Given the description of an element on the screen output the (x, y) to click on. 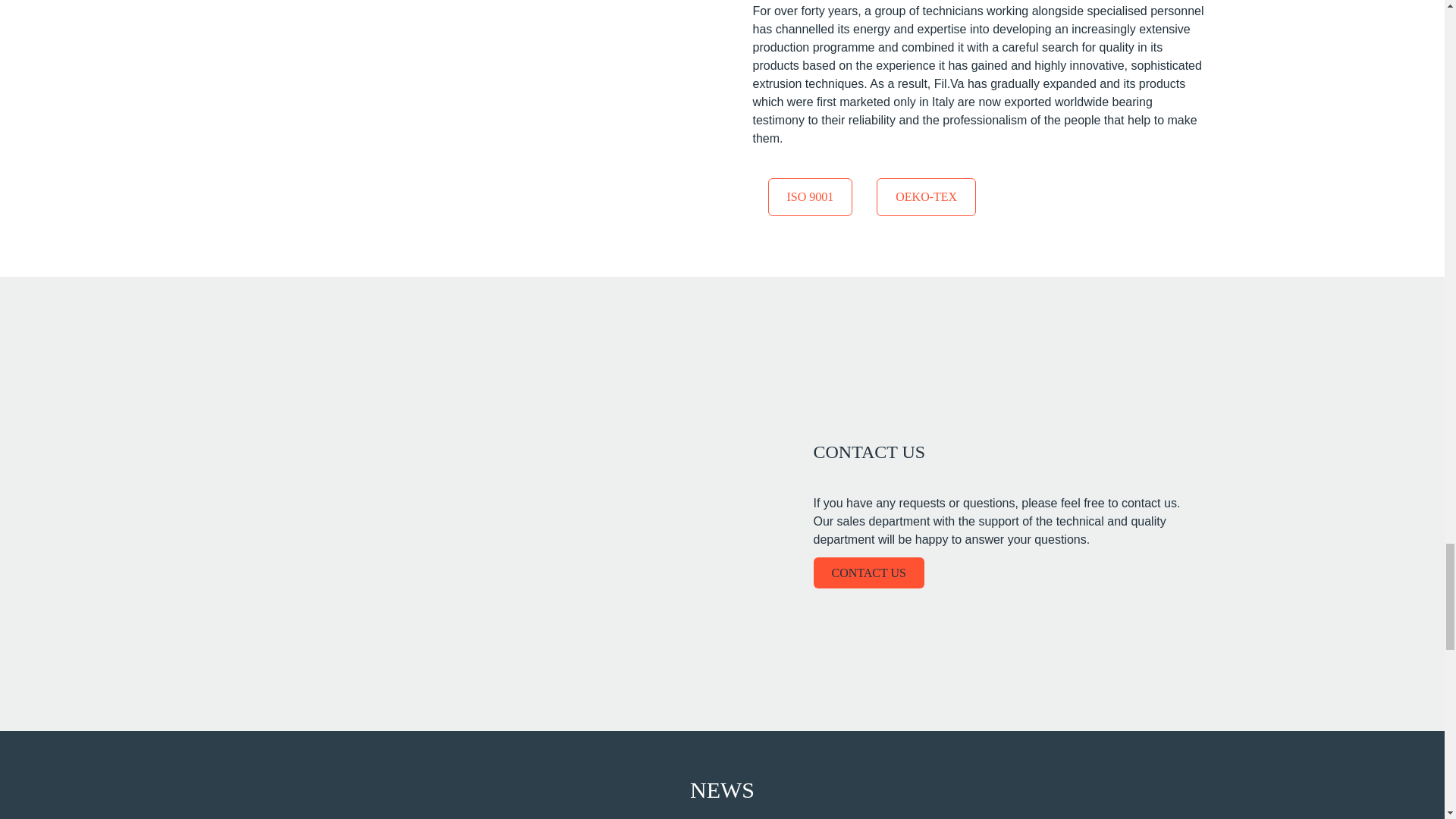
ISO 9001 (809, 197)
OEKO-TEX (925, 197)
CONTACT US (867, 572)
